Given the description of an element on the screen output the (x, y) to click on. 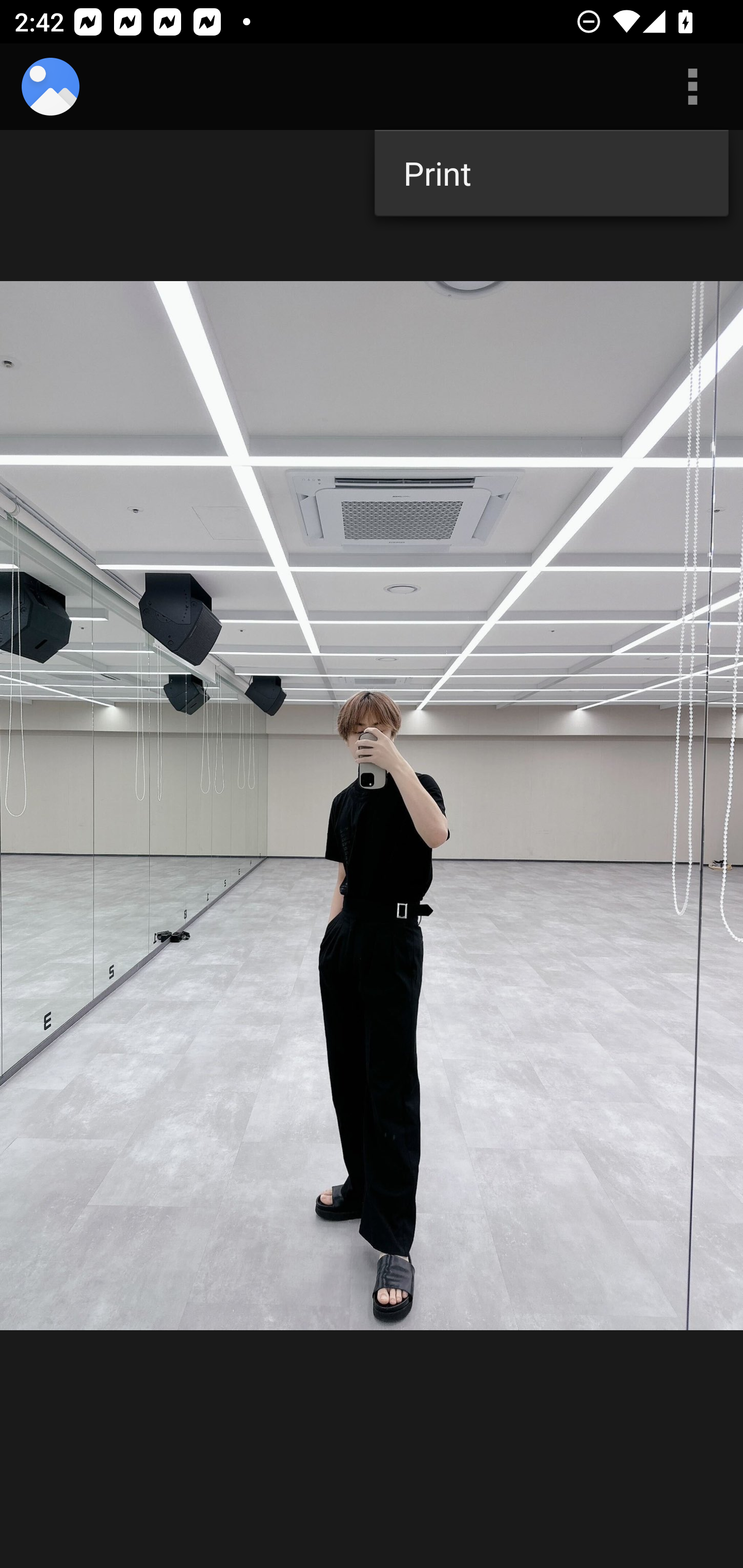
Print (551, 173)
